Given the description of an element on the screen output the (x, y) to click on. 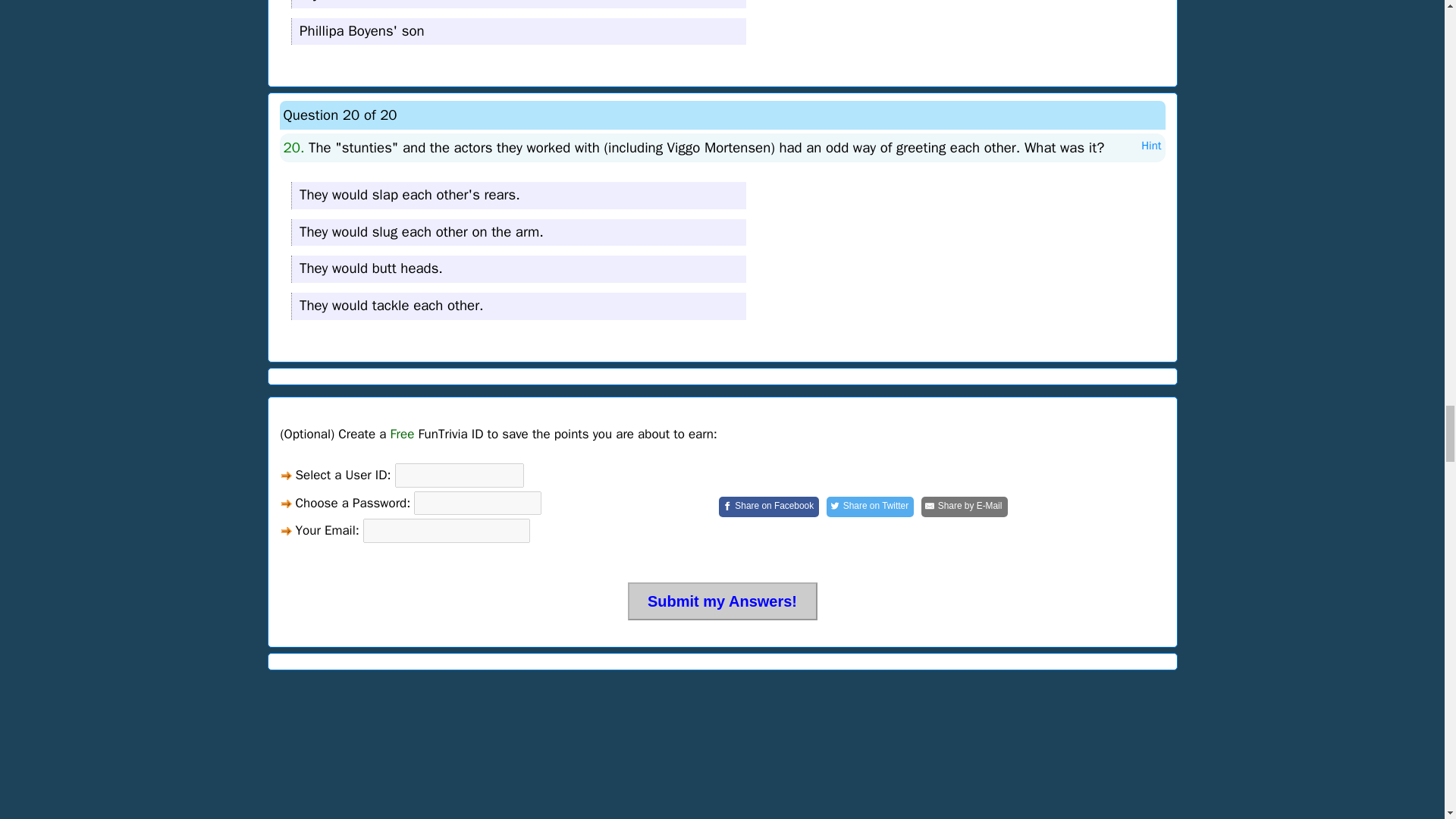
Submit my Answers! (721, 600)
